Given the description of an element on the screen output the (x, y) to click on. 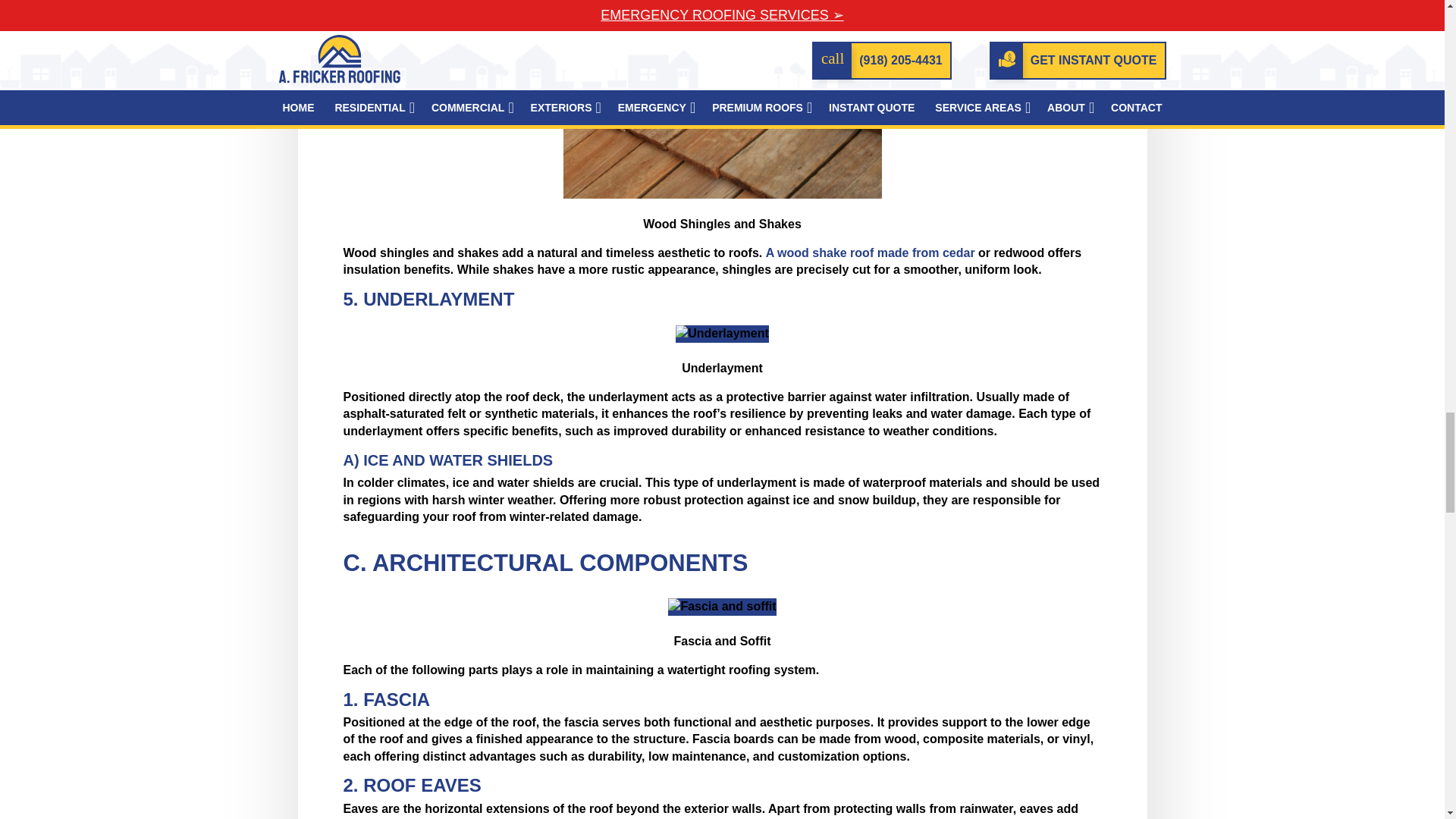
Roofing Terms (722, 606)
Roofing Terms (721, 99)
Roofing Terms (721, 333)
